Given the description of an element on the screen output the (x, y) to click on. 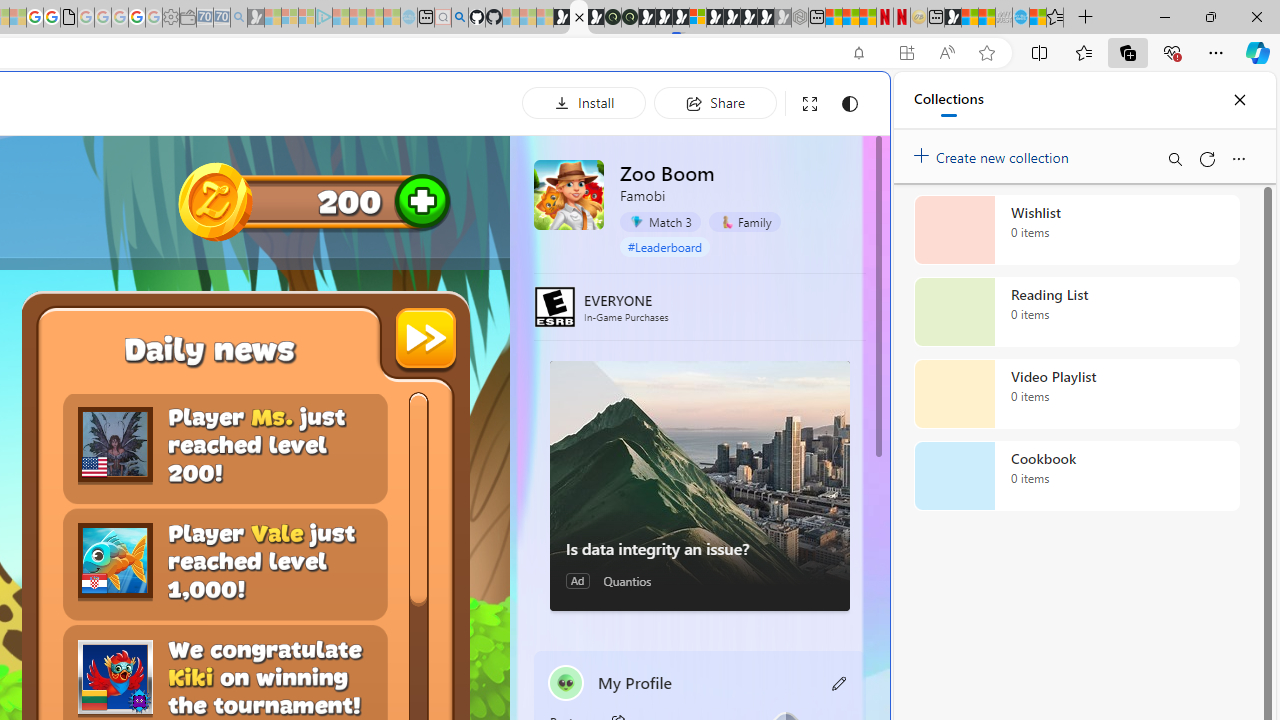
Home | Sky Blue Bikes - Sky Blue Bikes - Sleeping (408, 17)
Play Cave FRVR in your browser | Games from Microsoft Start (343, 426)
App available. Install Zoo Boom (906, 53)
Share (715, 102)
#Leaderboard (664, 246)
Earth has six continents not seven, radical new study claims (986, 17)
Full screen (810, 103)
